Given the description of an element on the screen output the (x, y) to click on. 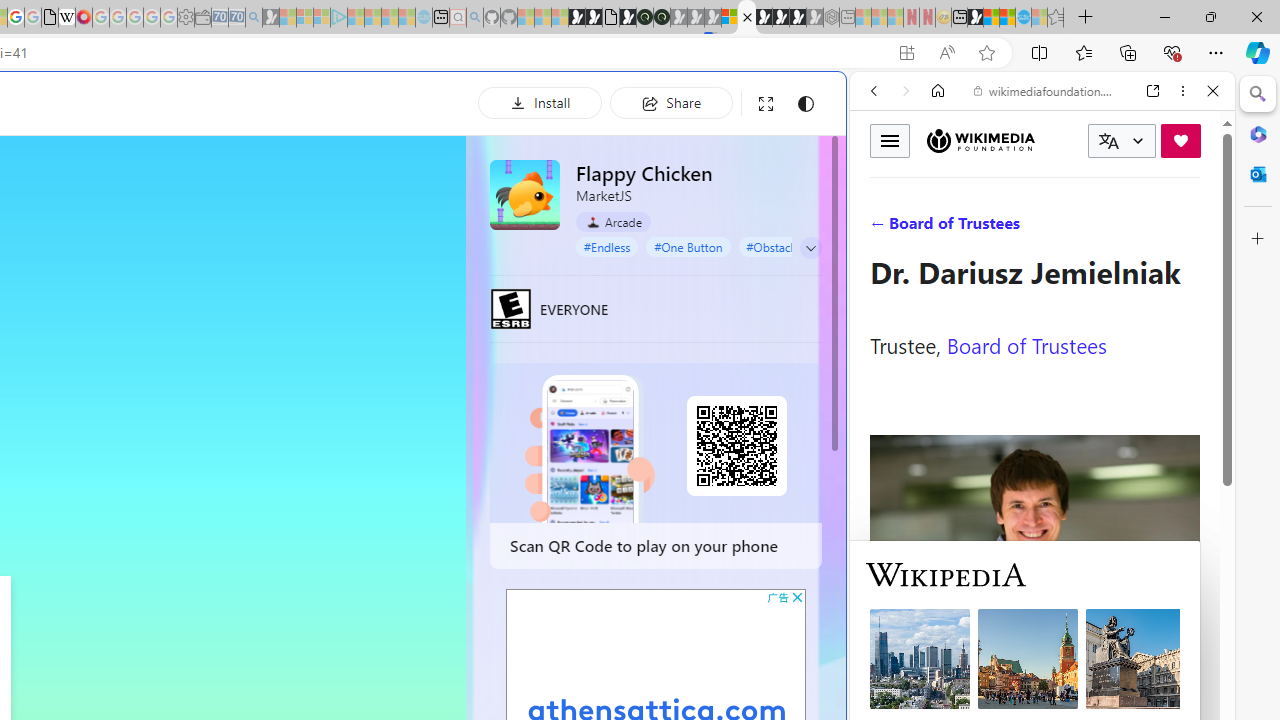
Search or enter web address (343, 191)
#One Button (688, 246)
Class: b_serphb (1190, 229)
MediaWiki (83, 17)
Class: i icon icon-translate language-switcher__icon (1108, 141)
Flappy Chicken (525, 194)
wikimediafoundation.org (1045, 90)
Play Cave FRVR in your browser | Games from Microsoft Start (343, 426)
Future Focus Report 2024 (661, 17)
